Given the description of an element on the screen output the (x, y) to click on. 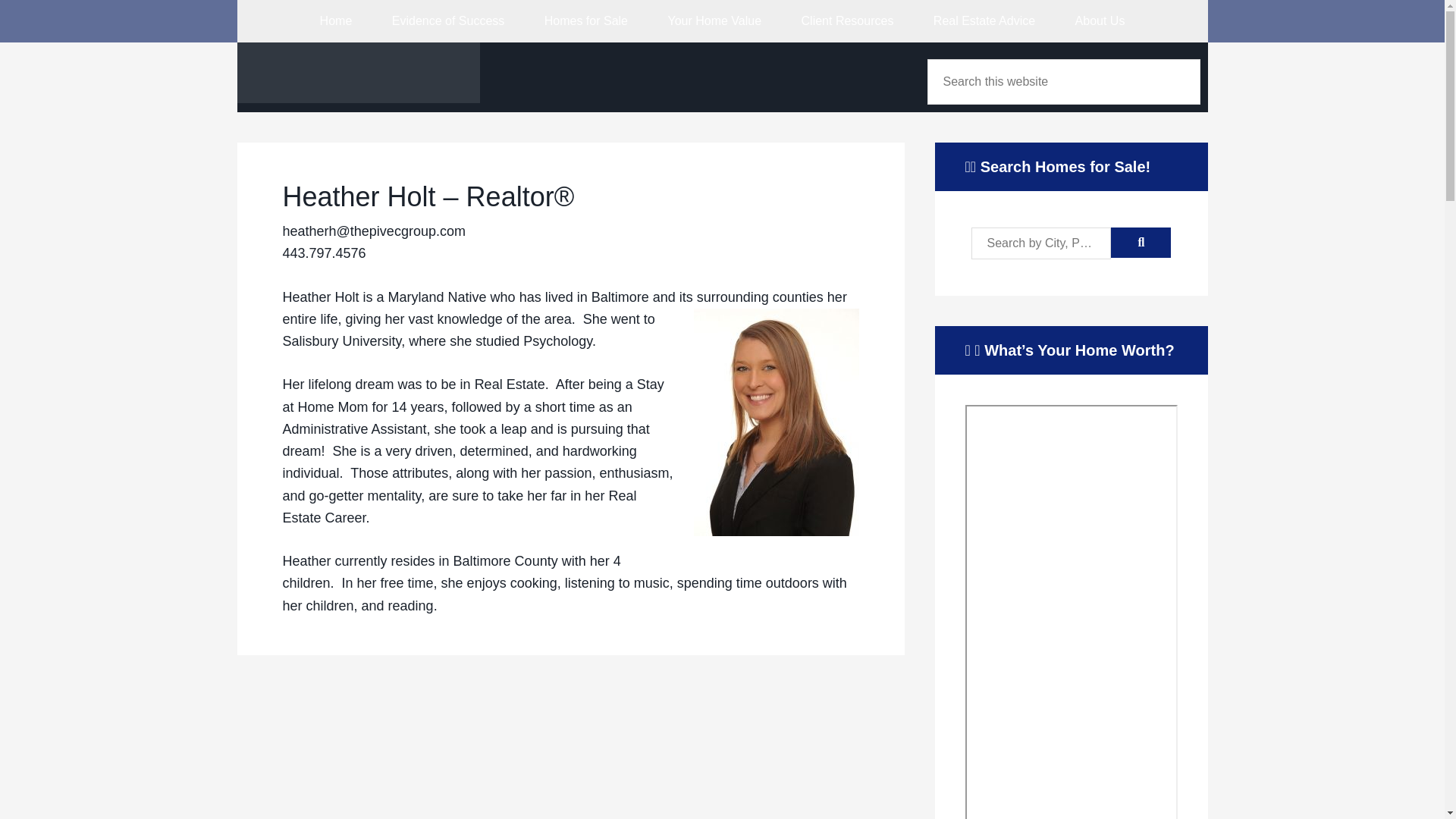
Matt Pivec with The W Home Group of Next Step Realty (357, 72)
Your Home Value (713, 21)
Homes for Sale (585, 21)
Search (1140, 242)
Client Resources (847, 21)
About Us (1099, 21)
Real Estate Advice (983, 21)
Evidence of Success (448, 21)
